Given the description of an element on the screen output the (x, y) to click on. 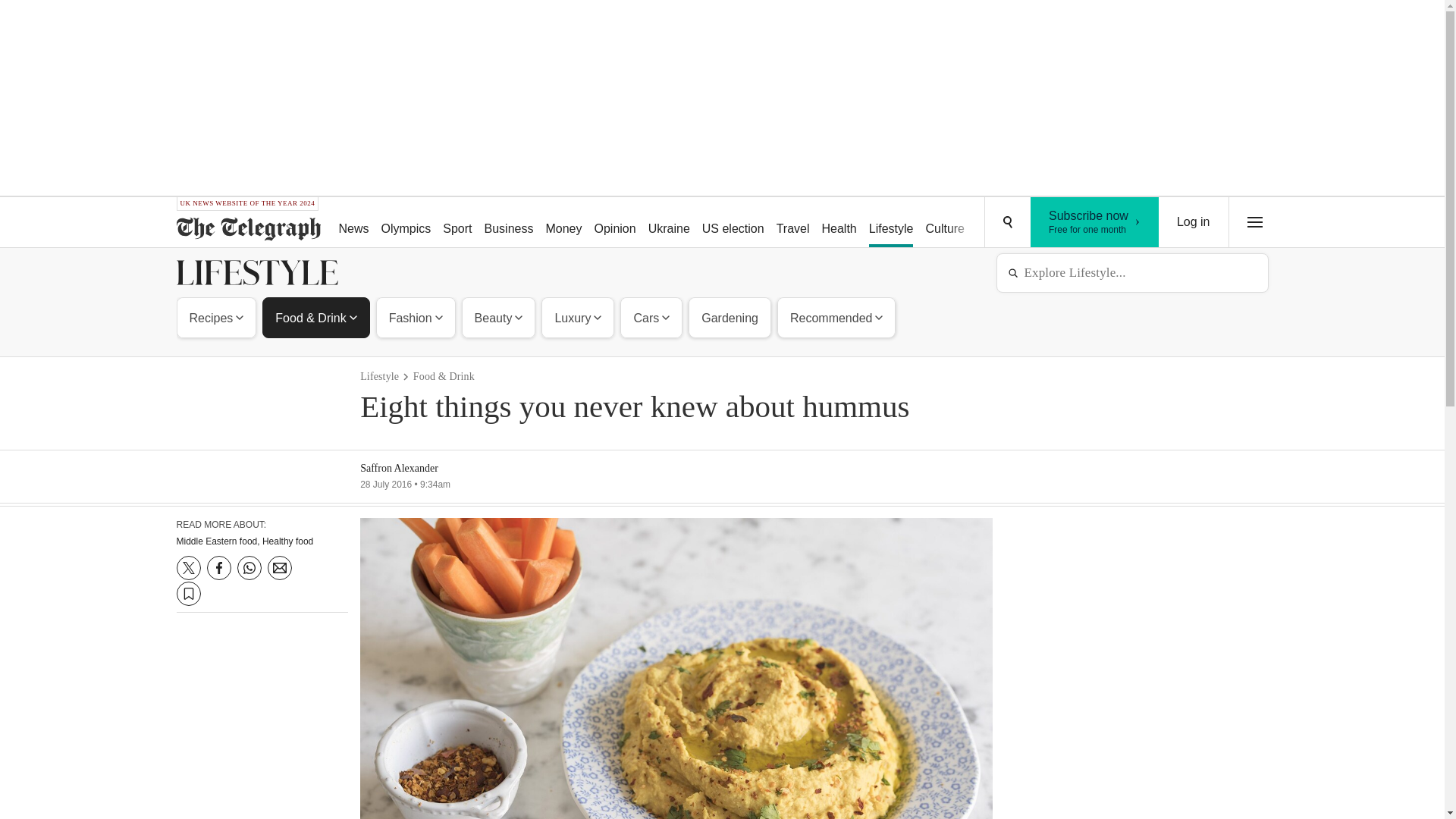
Olympics (406, 223)
Puzzles (998, 223)
US election (732, 223)
Travel (792, 223)
Log in (1193, 222)
Recipes (216, 317)
Opinion (615, 223)
Lifestyle (891, 223)
Health (838, 223)
Culture (944, 223)
